Given the description of an element on the screen output the (x, y) to click on. 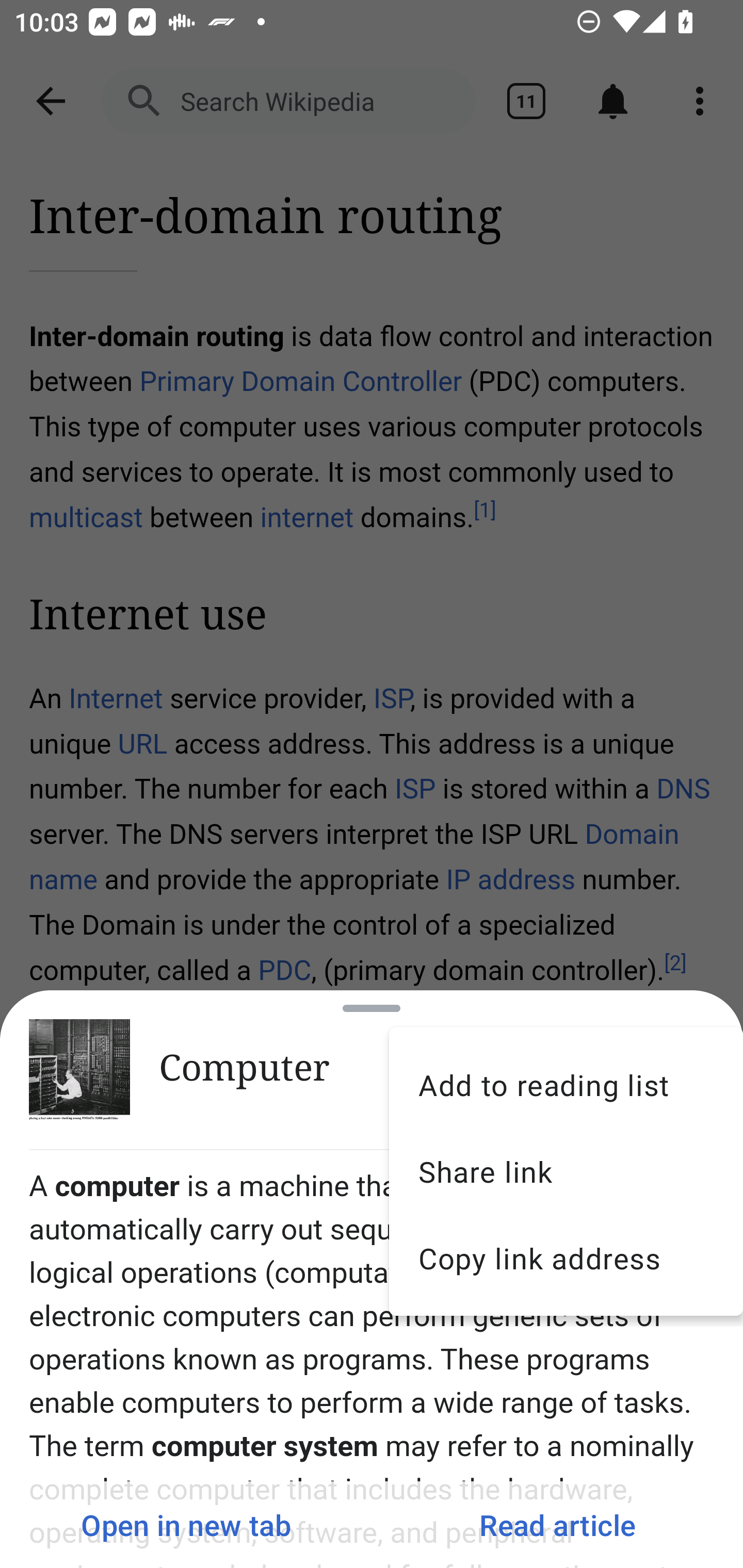
Add to reading list (566, 1084)
Share link (566, 1171)
Copy link address (566, 1258)
